Given the description of an element on the screen output the (x, y) to click on. 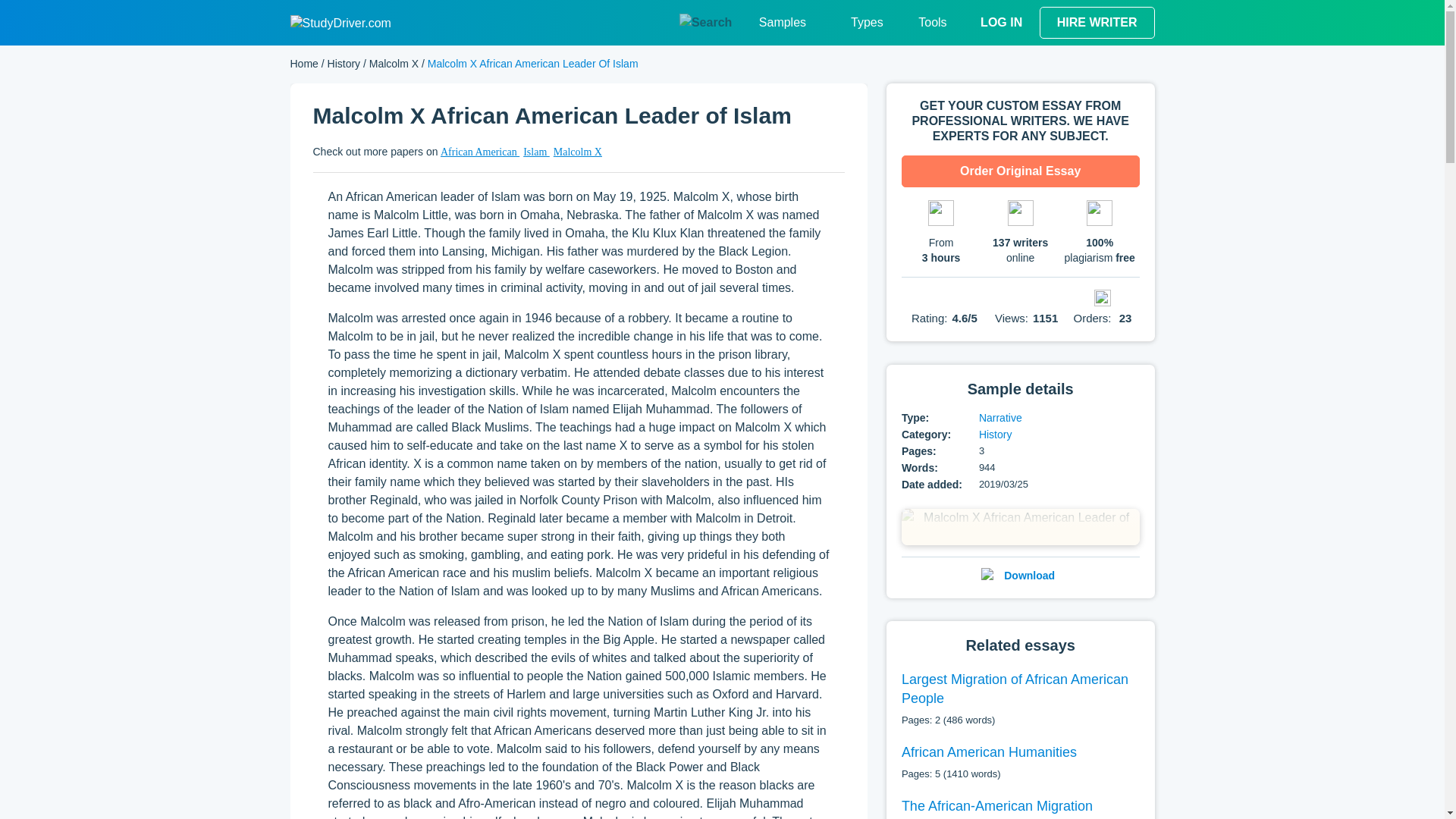
Malcolm X African American Leader of Islam (1020, 526)
